Given the description of an element on the screen output the (x, y) to click on. 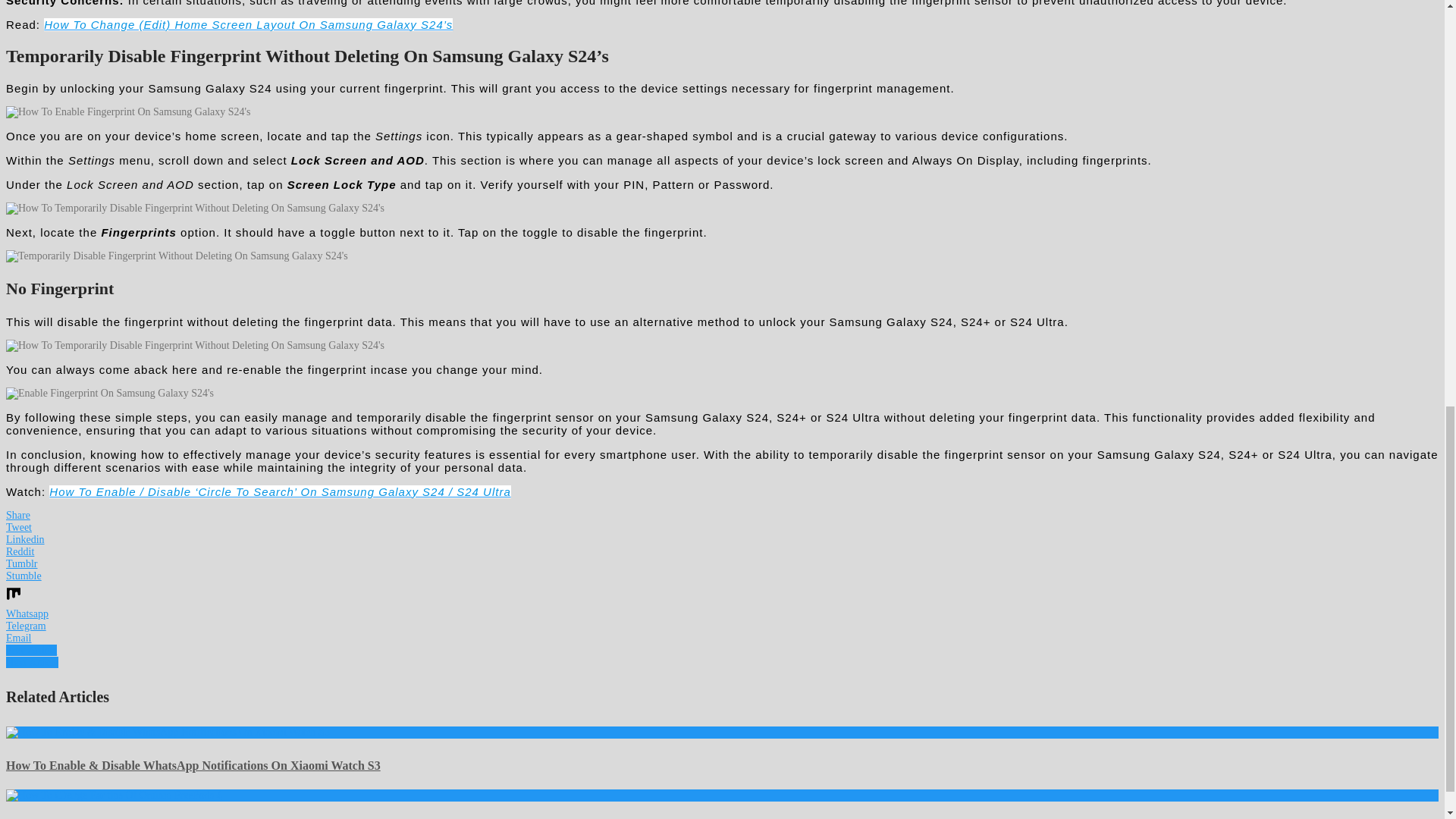
How To Change Ear tips Of Oraimo FreePods 4 (113, 795)
Next Article (31, 662)
Prev Article (30, 650)
